Given the description of an element on the screen output the (x, y) to click on. 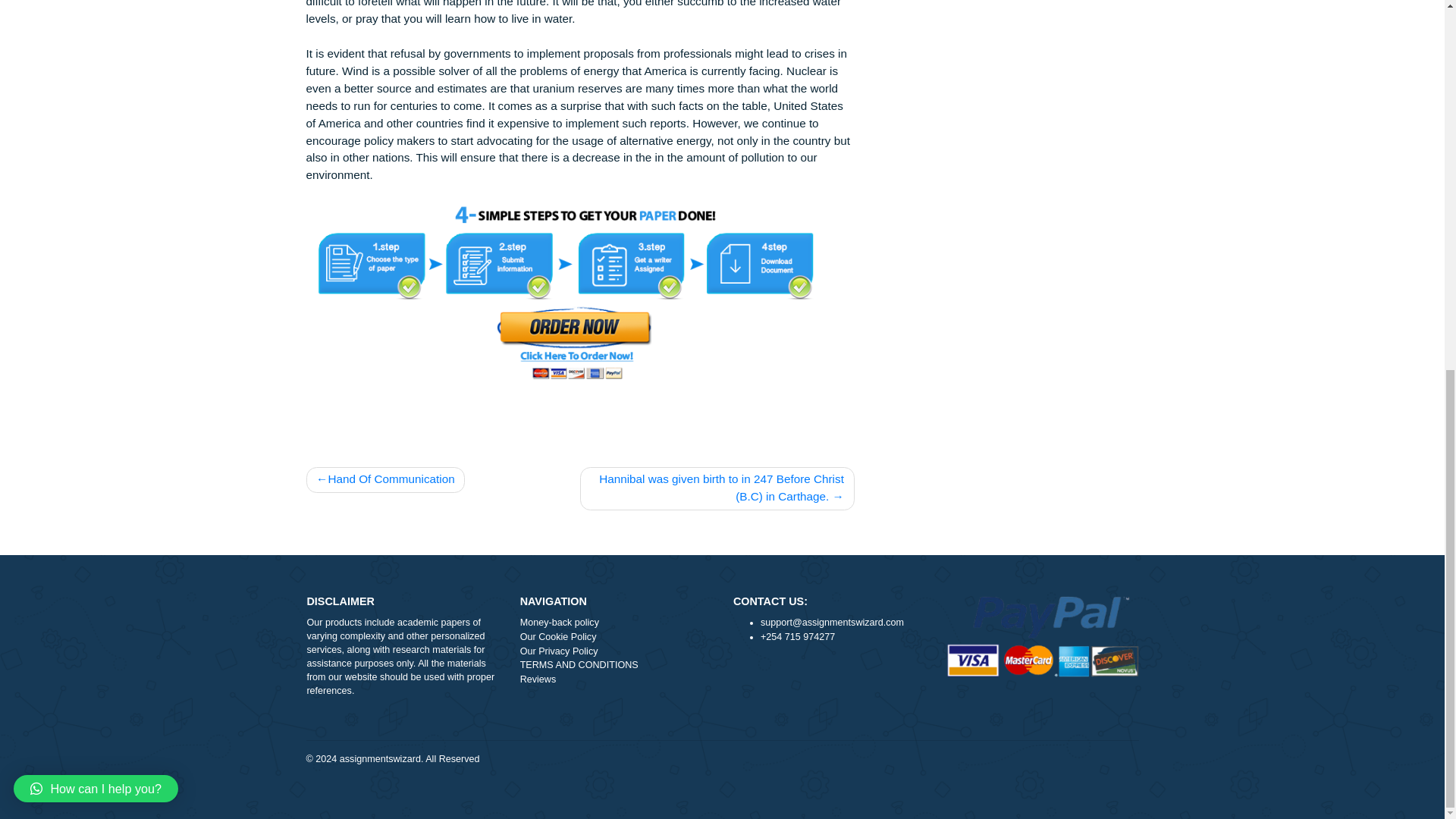
Hand Of Communication (427, 607)
Our Privacy Policy (685, 797)
Money-back policy (685, 765)
Our Cookie Policy (685, 781)
How can I help you? (106, 205)
TERMS AND CONDITIONS (685, 812)
